Given the description of an element on the screen output the (x, y) to click on. 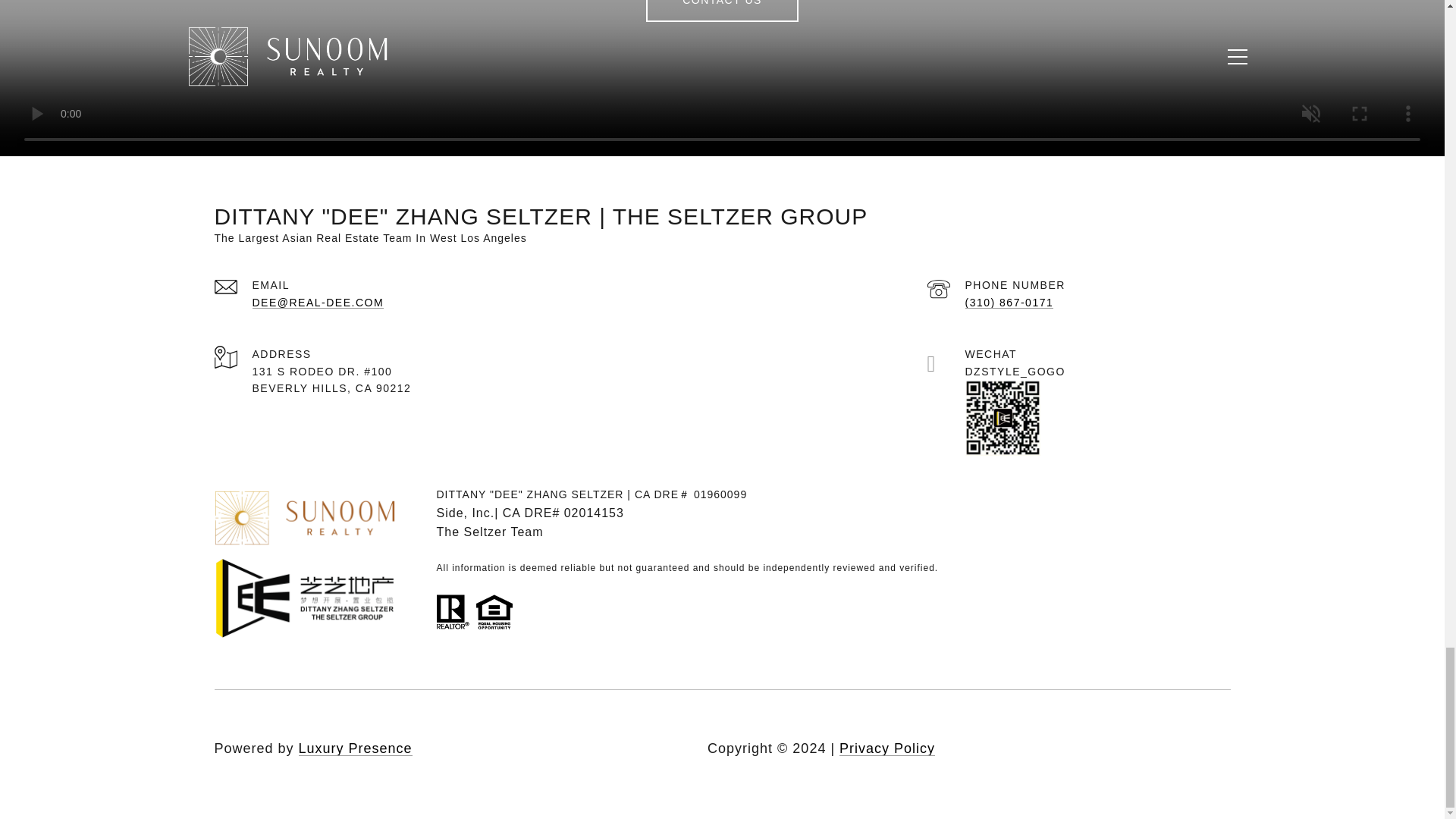
CONTACT US (721, 11)
Privacy Policy (887, 748)
Luxury Presence (355, 748)
